Given the description of an element on the screen output the (x, y) to click on. 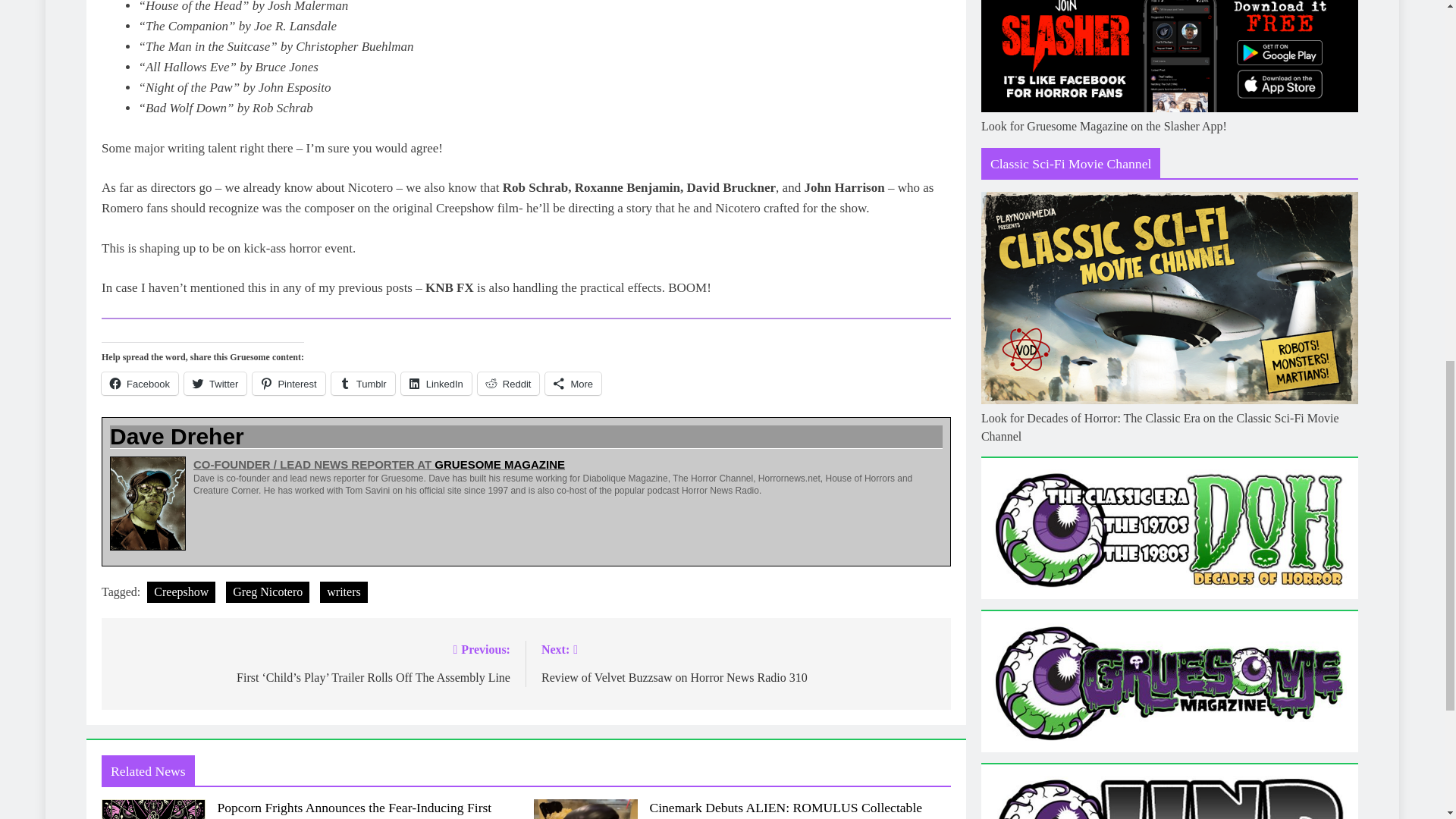
Click to share on Reddit (508, 383)
Click to share on LinkedIn (436, 383)
Click to share on Twitter (215, 383)
Click to share on Facebook (139, 383)
Click to share on Tumblr (362, 383)
Click to share on Pinterest (287, 383)
